Given the description of an element on the screen output the (x, y) to click on. 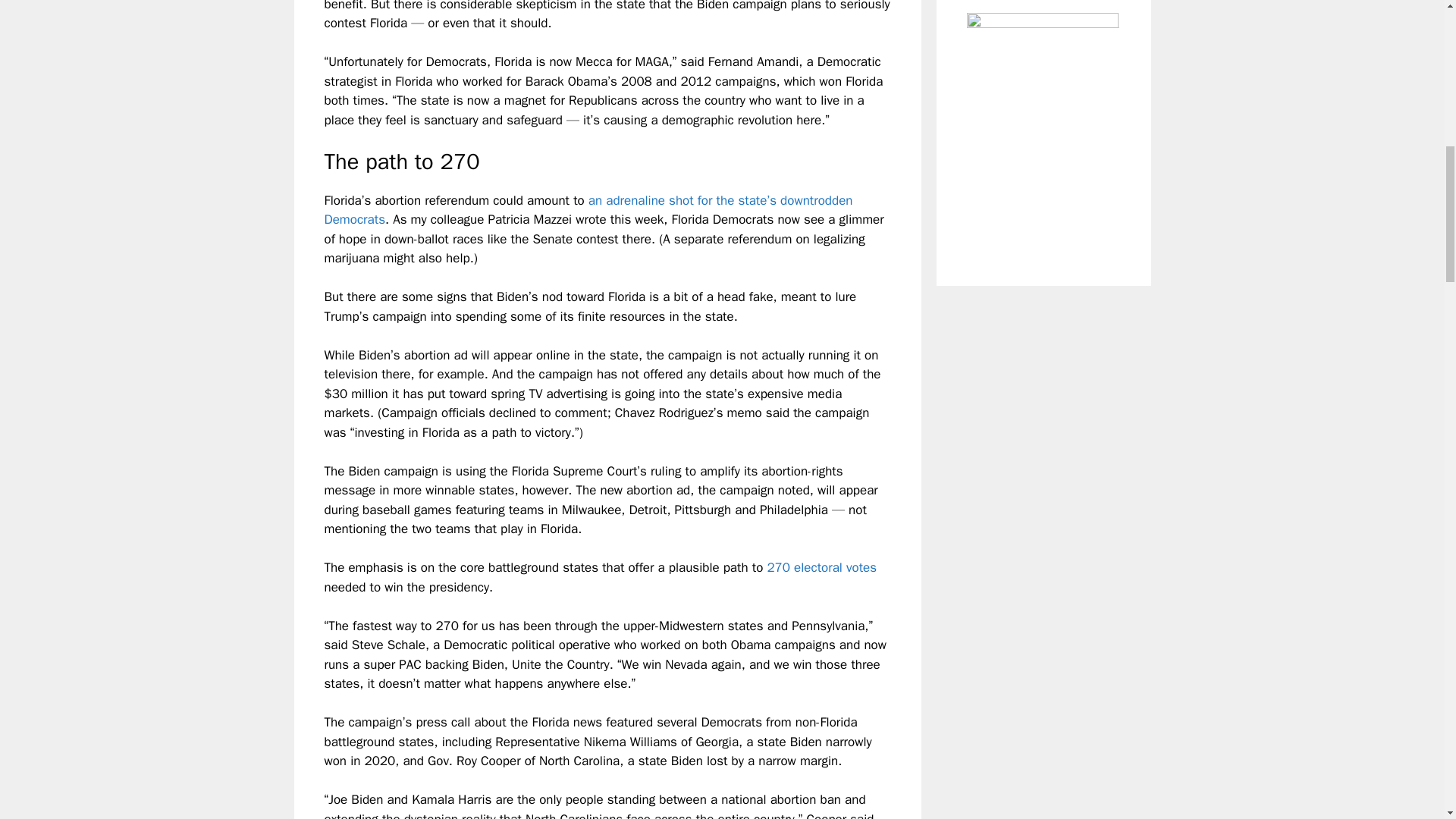
270 electoral votes (821, 567)
